Given the description of an element on the screen output the (x, y) to click on. 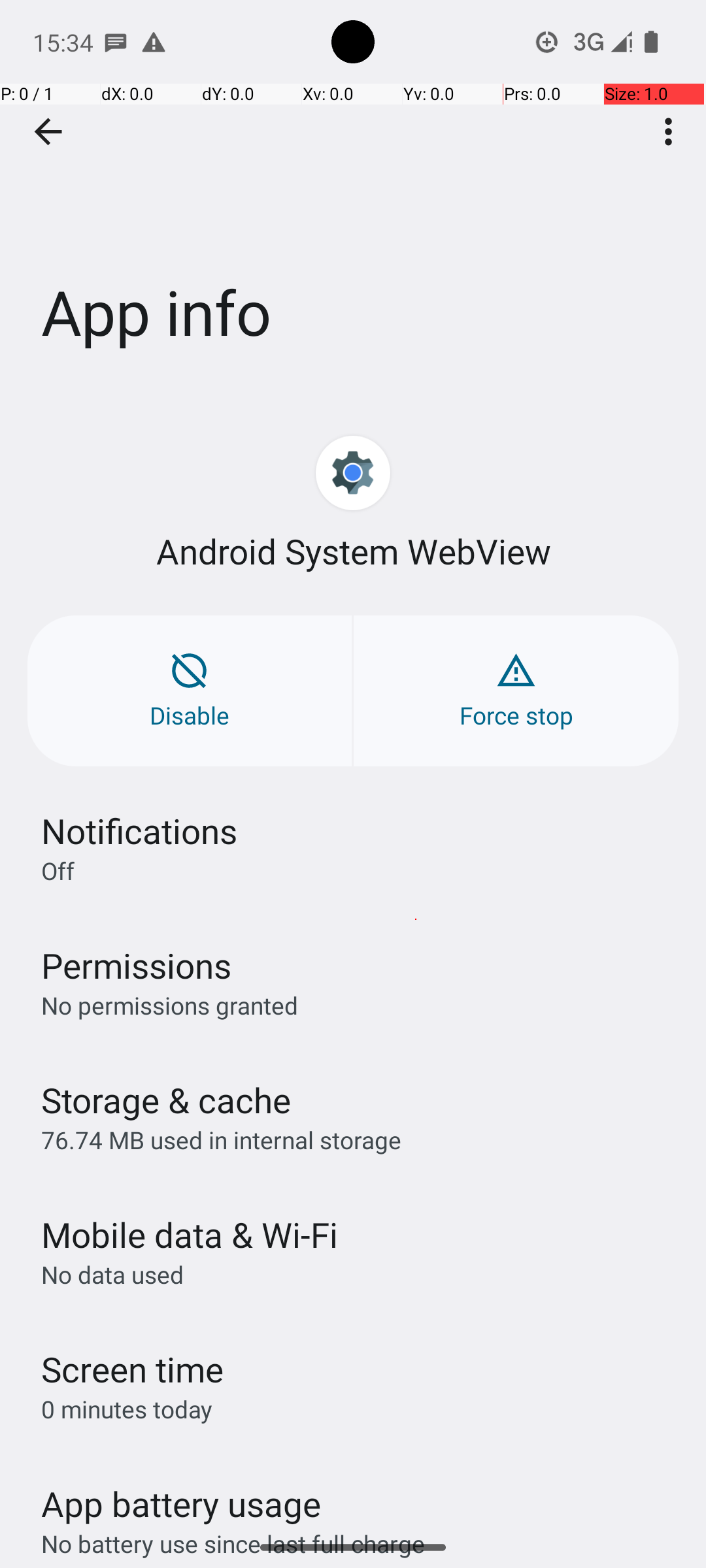
App info Element type: android.widget.FrameLayout (353, 195)
Android System WebView Element type: android.widget.TextView (352, 550)
Disable Element type: android.widget.Button (189, 690)
Force stop Element type: android.widget.Button (515, 690)
Permissions Element type: android.widget.TextView (136, 965)
No permissions granted Element type: android.widget.TextView (169, 1004)
Storage & cache Element type: android.widget.TextView (166, 1099)
76.74 MB used in internal storage Element type: android.widget.TextView (221, 1139)
Mobile data & Wi‑Fi Element type: android.widget.TextView (189, 1234)
No data used Element type: android.widget.TextView (112, 1273)
Screen time Element type: android.widget.TextView (132, 1368)
0 minutes today Element type: android.widget.TextView (127, 1408)
App battery usage Element type: android.widget.TextView (181, 1503)
